Given the description of an element on the screen output the (x, y) to click on. 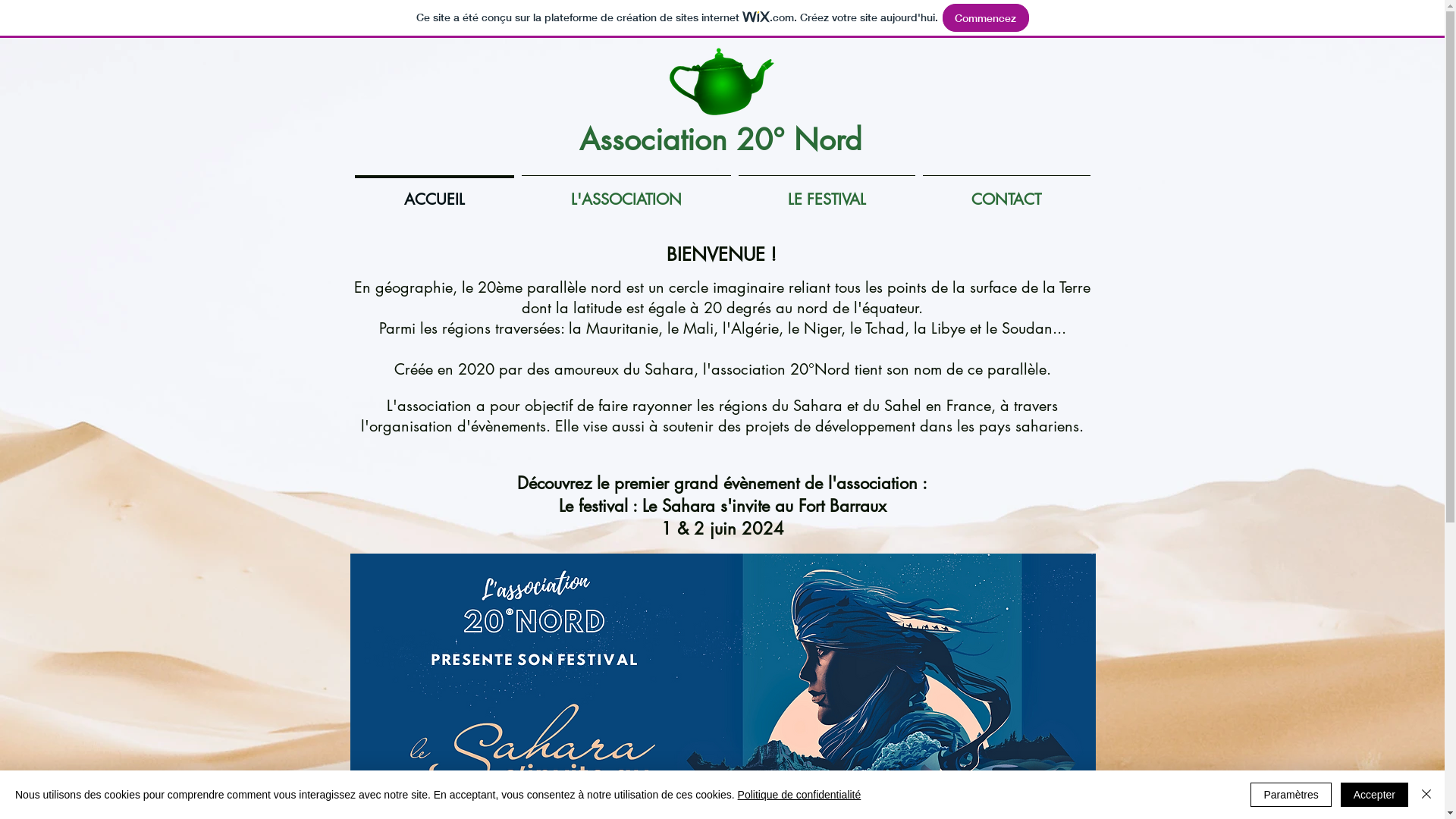
ACCUEIL Element type: text (433, 192)
CONTACT Element type: text (1006, 192)
L'ASSOCIATION Element type: text (625, 192)
LE FESTIVAL Element type: text (826, 192)
Accepter Element type: text (1374, 794)
